Given the description of an element on the screen output the (x, y) to click on. 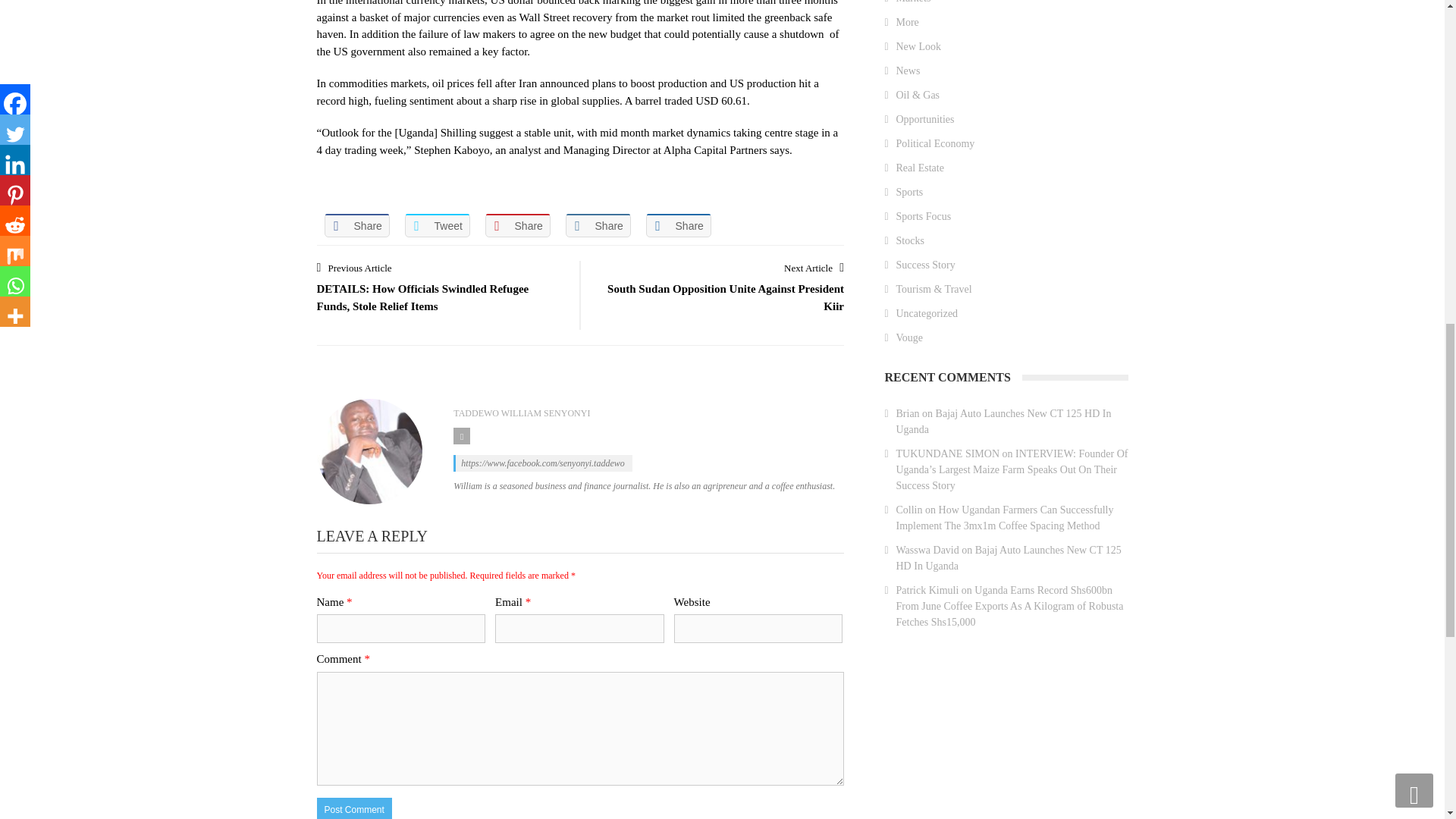
Youtube (461, 435)
Share on Facebook (357, 225)
Share on Pinterest (517, 225)
Share on Twitter (437, 225)
Share on LinkedIn (598, 225)
Share on Digg (678, 225)
Post Comment (354, 808)
